Given the description of an element on the screen output the (x, y) to click on. 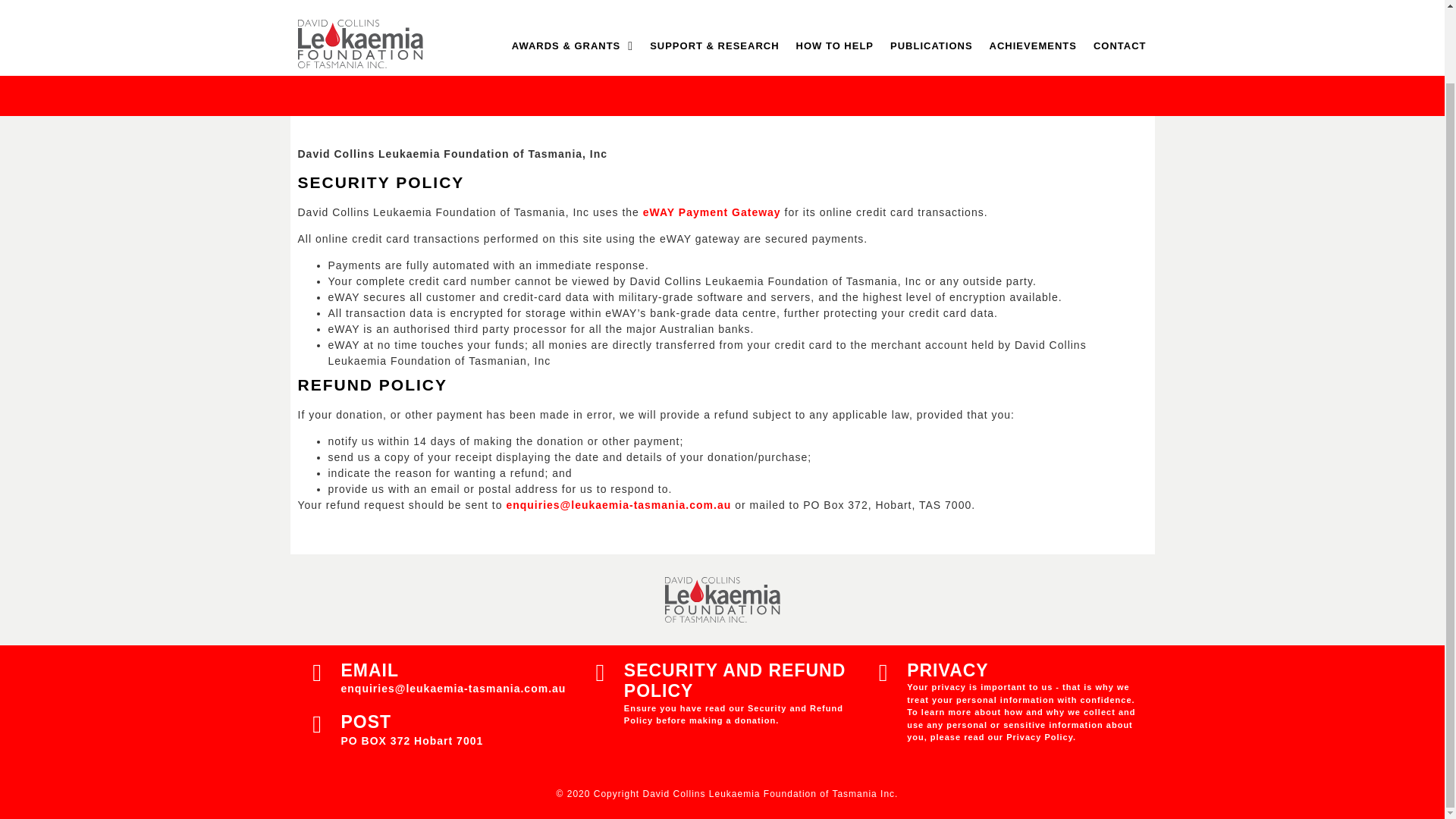
eWAY Payment Gateway (711, 212)
